Given the description of an element on the screen output the (x, y) to click on. 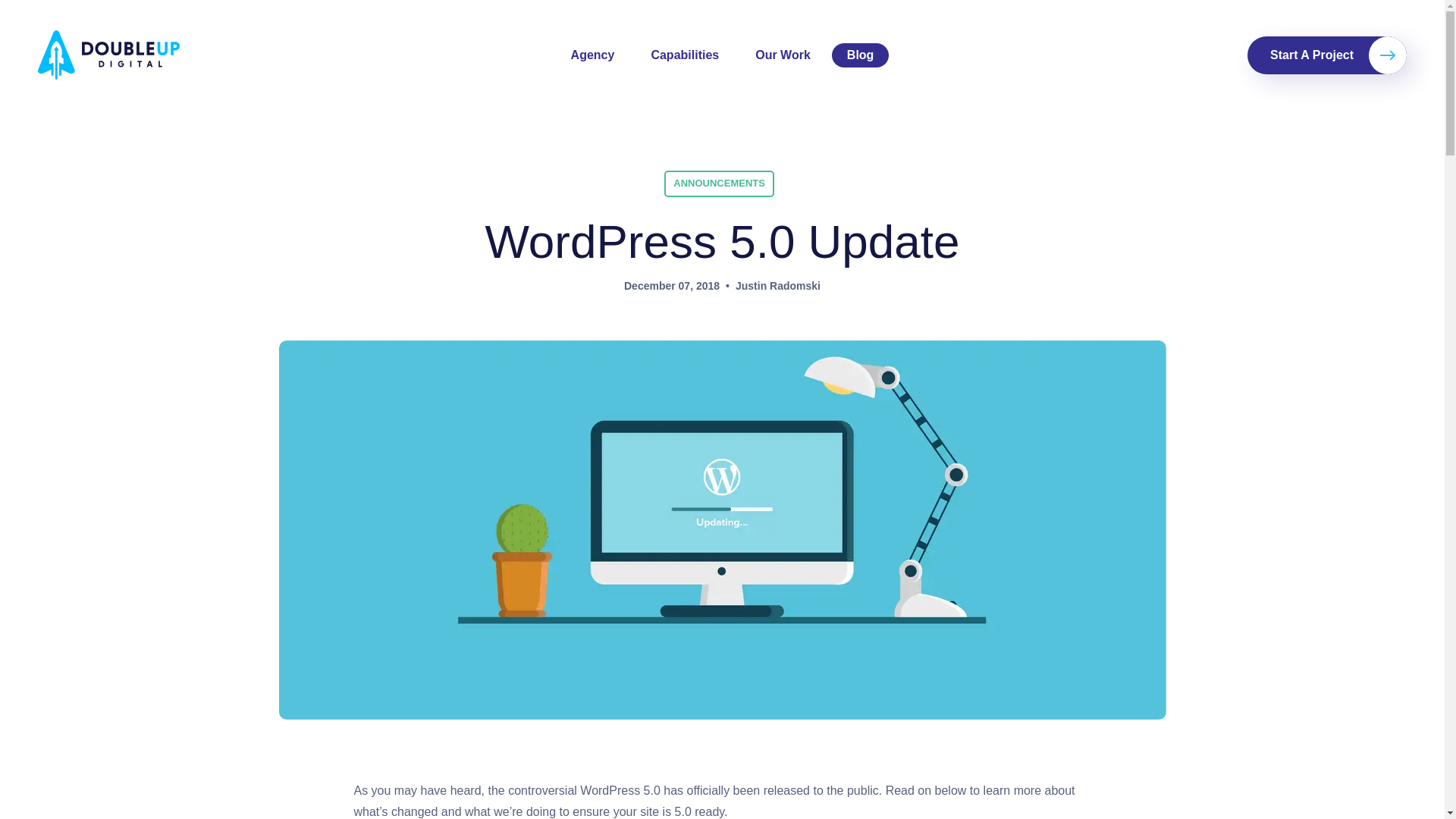
Start A Project (1326, 55)
Blog (860, 54)
Agency (593, 54)
Our Work (782, 54)
Capabilities (683, 54)
